Given the description of an element on the screen output the (x, y) to click on. 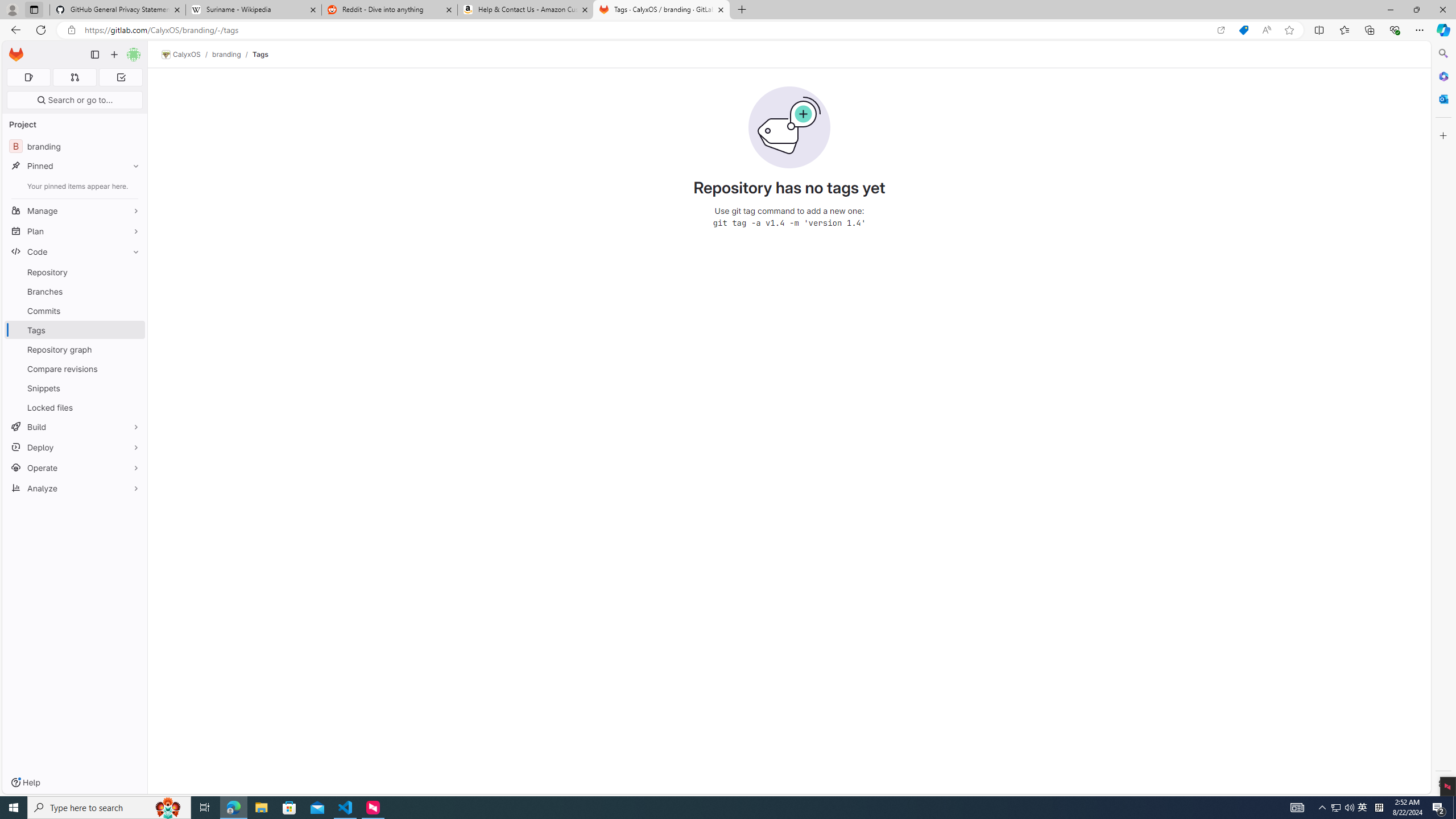
Repository (74, 271)
Build (74, 426)
Locked files (74, 407)
Create new... (113, 54)
Commits (74, 310)
To-Do list 0 (120, 76)
CalyxOS/ (186, 54)
Skip to main content (13, 49)
Pinned (74, 165)
Bbranding (74, 145)
Pin Branches (132, 291)
